Given the description of an element on the screen output the (x, y) to click on. 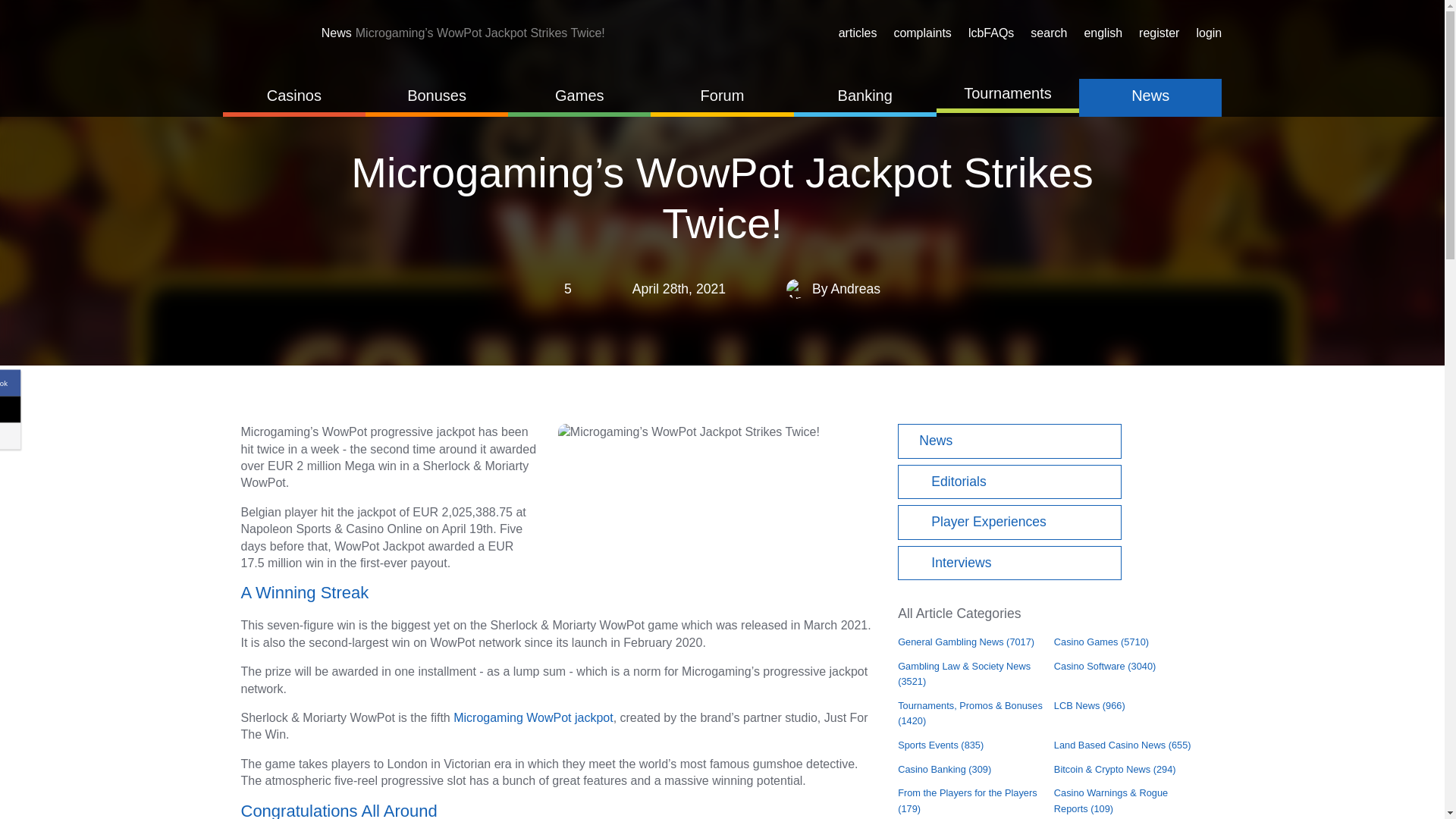
News (338, 32)
login (1206, 33)
search (1046, 33)
articles (855, 33)
lcbFAQs (988, 33)
Casinos (293, 97)
register (1156, 33)
english (1100, 33)
complaints (919, 33)
